Given the description of an element on the screen output the (x, y) to click on. 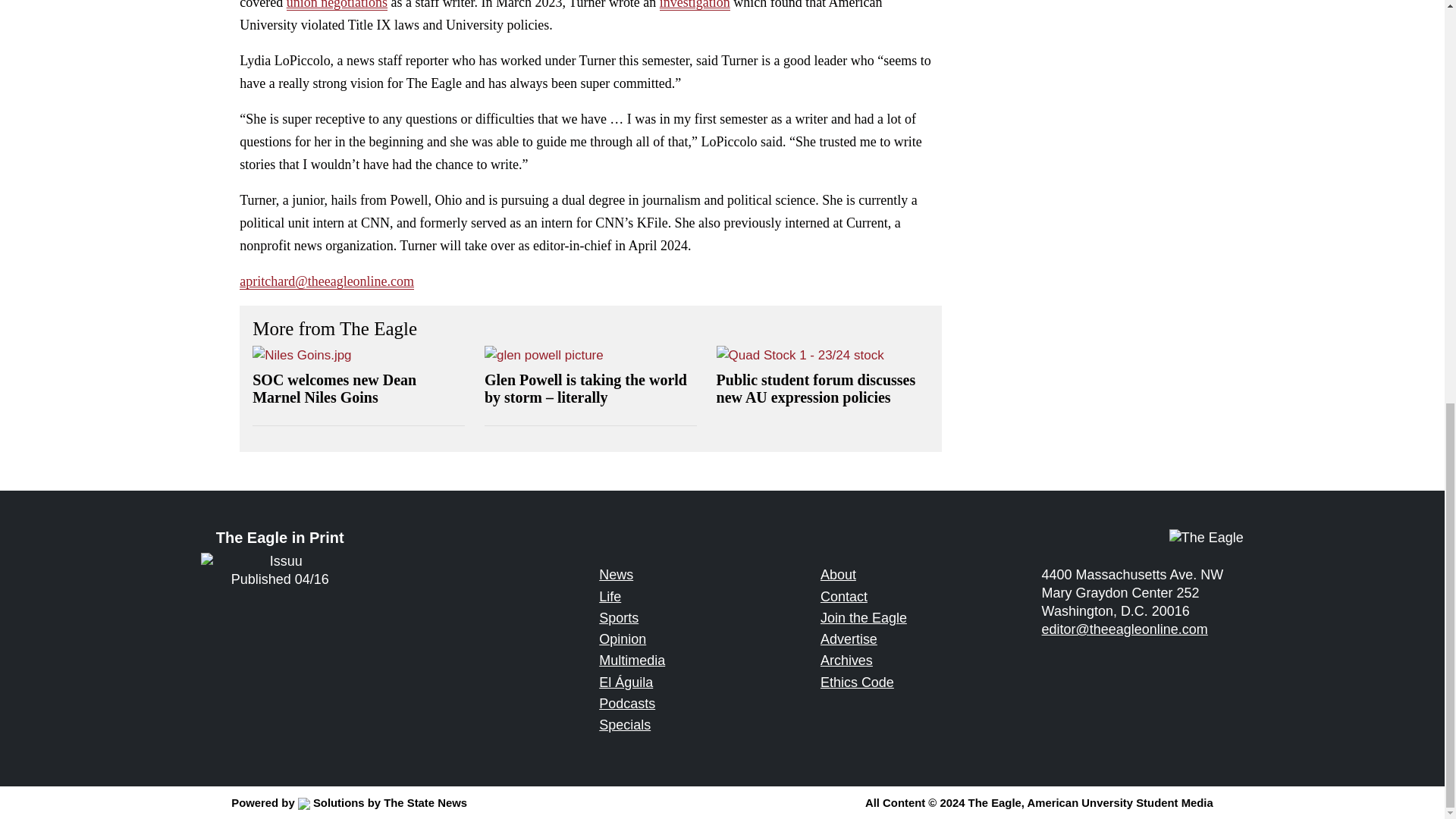
SOC welcomes new Dean Marnel Niles Goins (357, 355)
Public student forum discusses new AU expression policies (822, 355)
SOC welcomes new Dean Marnel Niles Goins (333, 387)
Public student forum discusses new AU expression policies (815, 387)
